Given the description of an element on the screen output the (x, y) to click on. 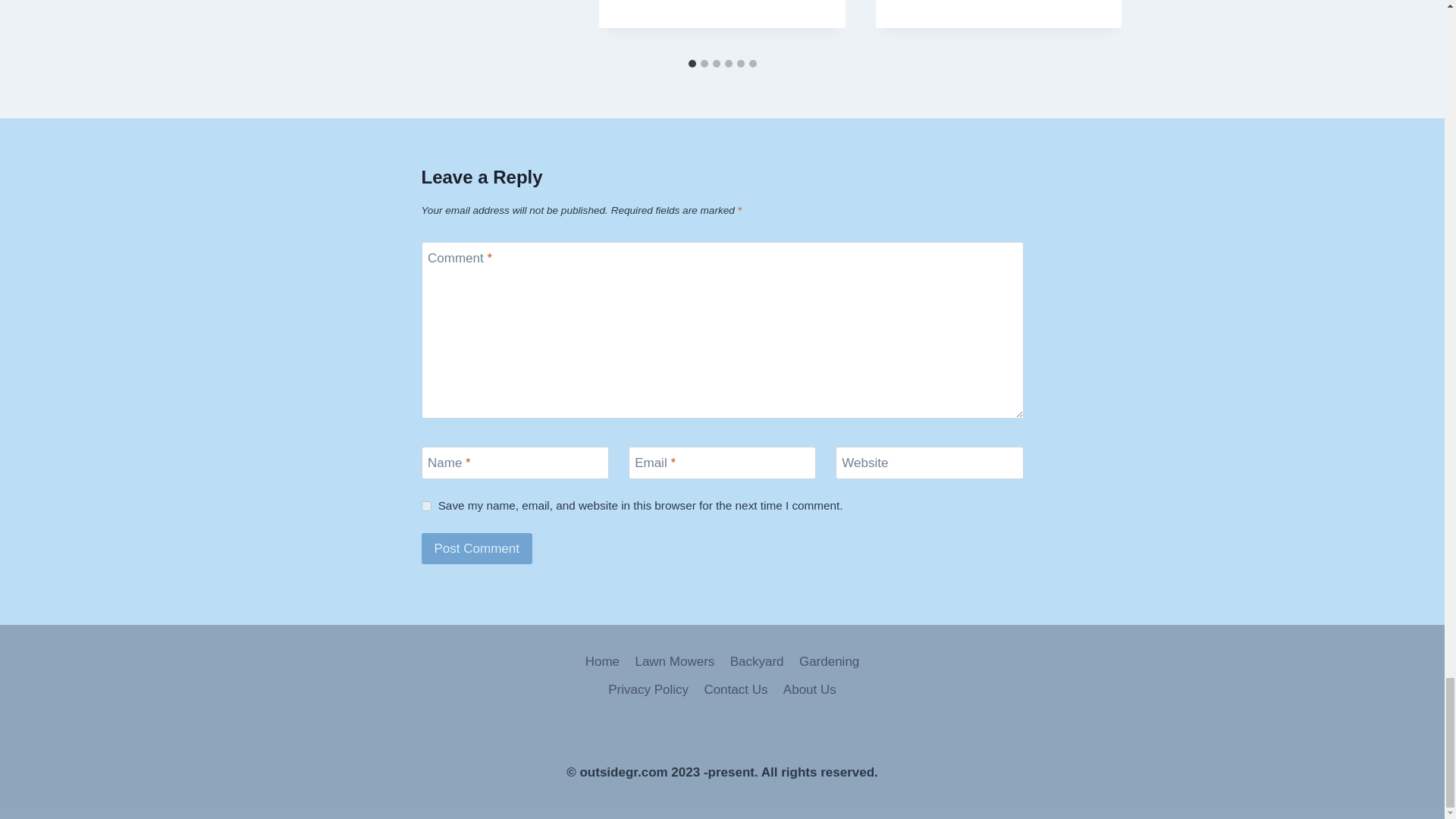
Post Comment (477, 548)
yes (426, 506)
